Given the description of an element on the screen output the (x, y) to click on. 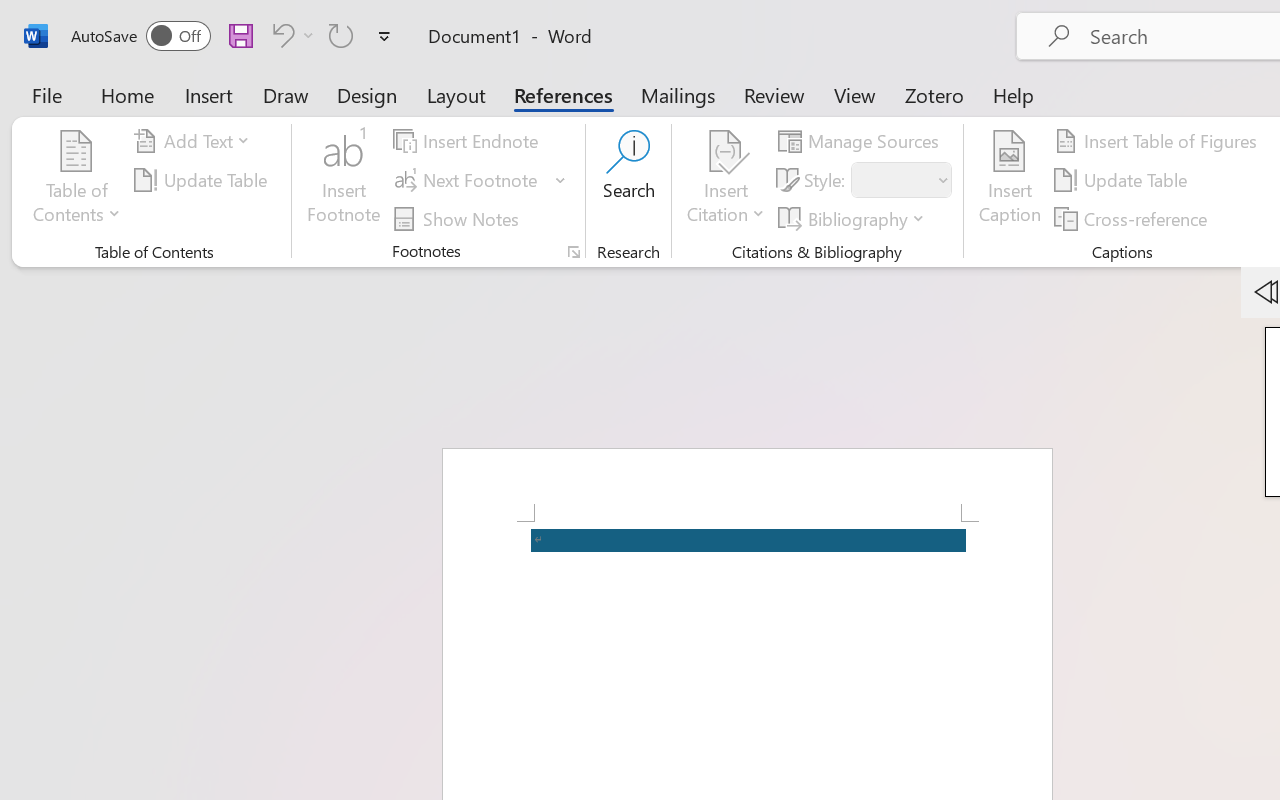
Repeat Accessibility Checker (341, 35)
Manage Sources... (861, 141)
Update Table... (204, 179)
Style (892, 179)
Cross-reference... (1133, 218)
Undo Apply Quick Style Set (290, 35)
Table of Contents (77, 179)
Style (901, 179)
Add Text (195, 141)
Show Notes (459, 218)
